Given the description of an element on the screen output the (x, y) to click on. 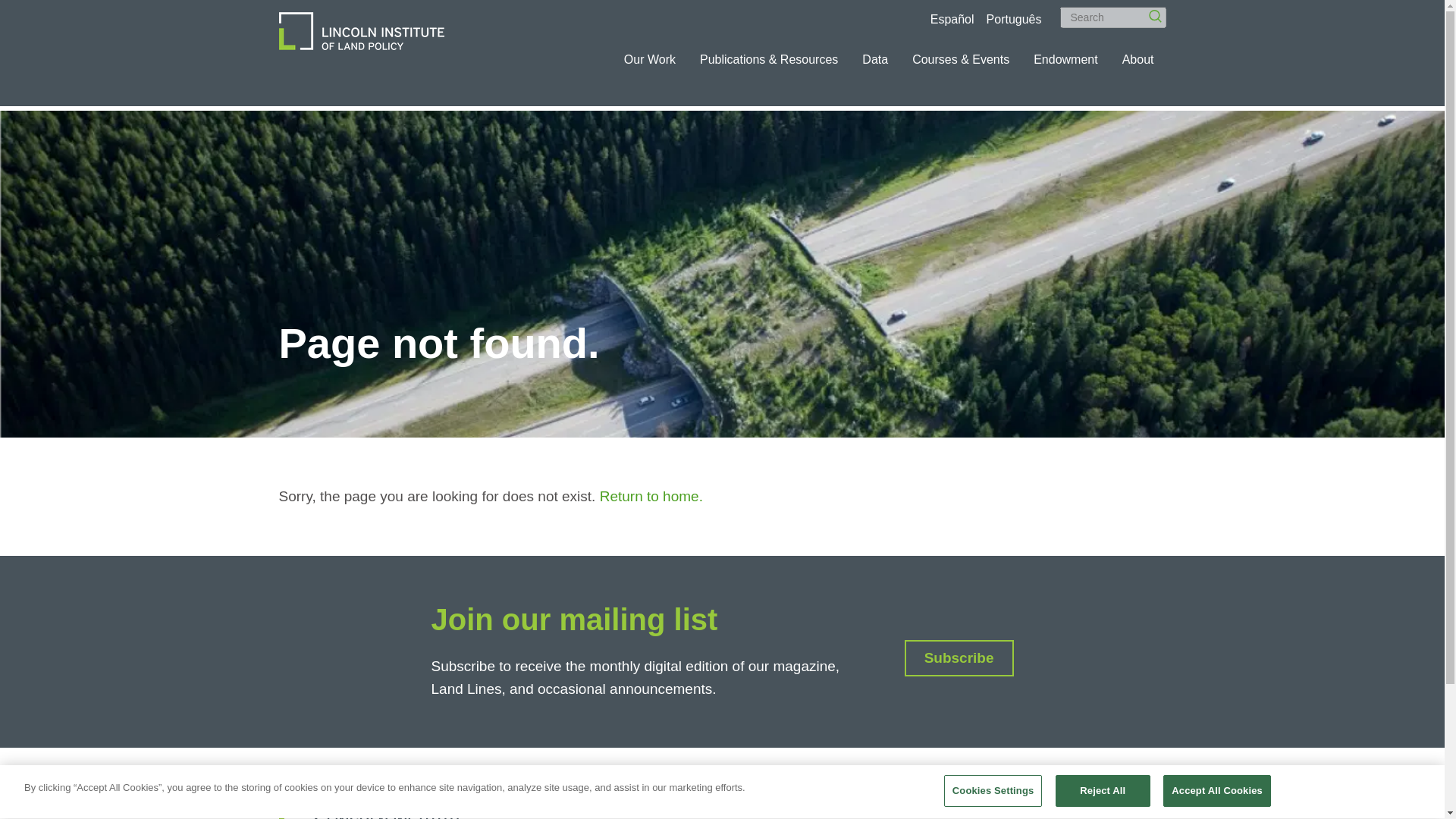
Search (1112, 16)
Data (874, 59)
Our Work (649, 59)
Search (1149, 11)
Search (1149, 11)
